Given the description of an element on the screen output the (x, y) to click on. 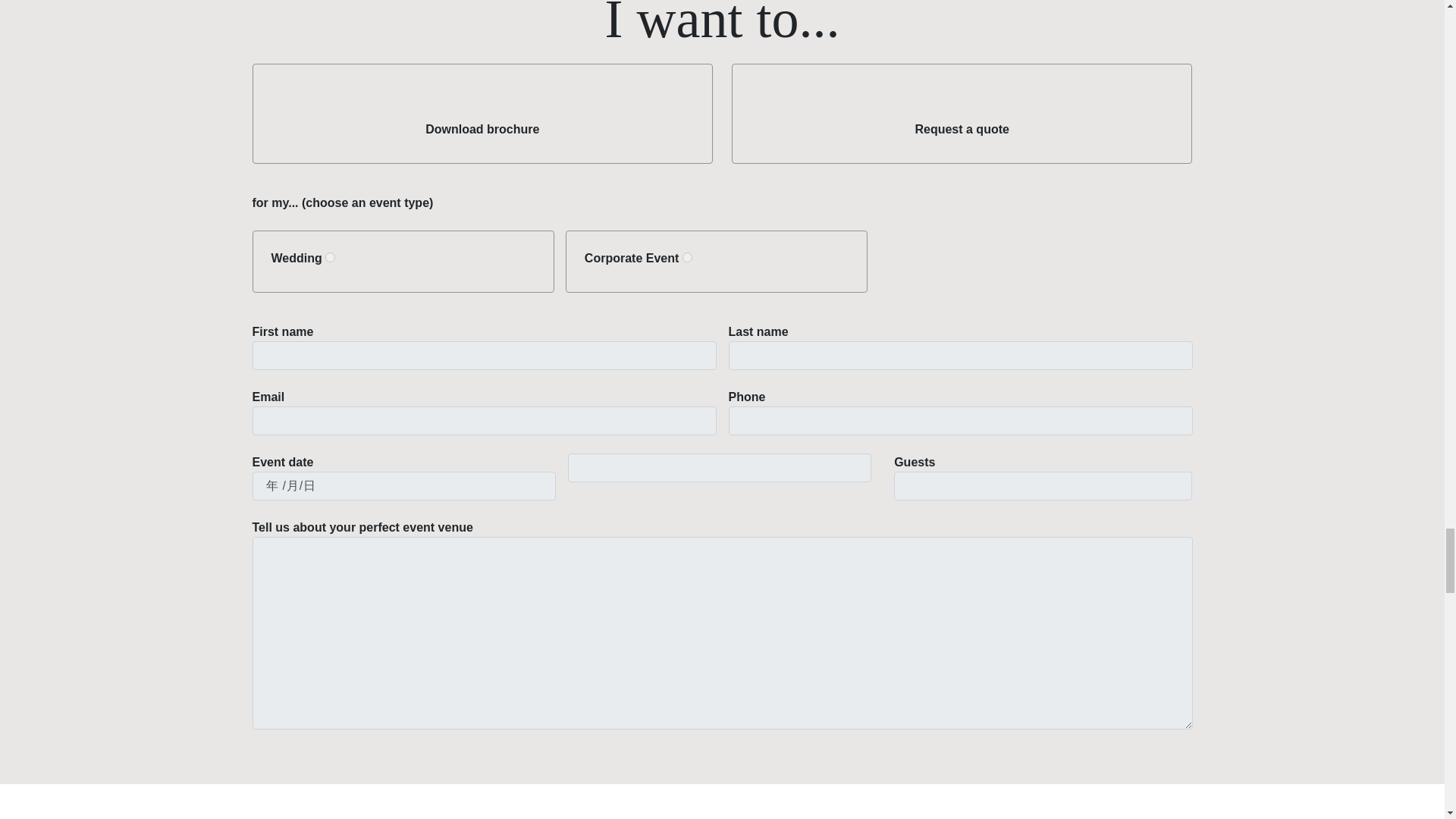
Corporate Event (687, 257)
Wedding (329, 257)
